Given the description of an element on the screen output the (x, y) to click on. 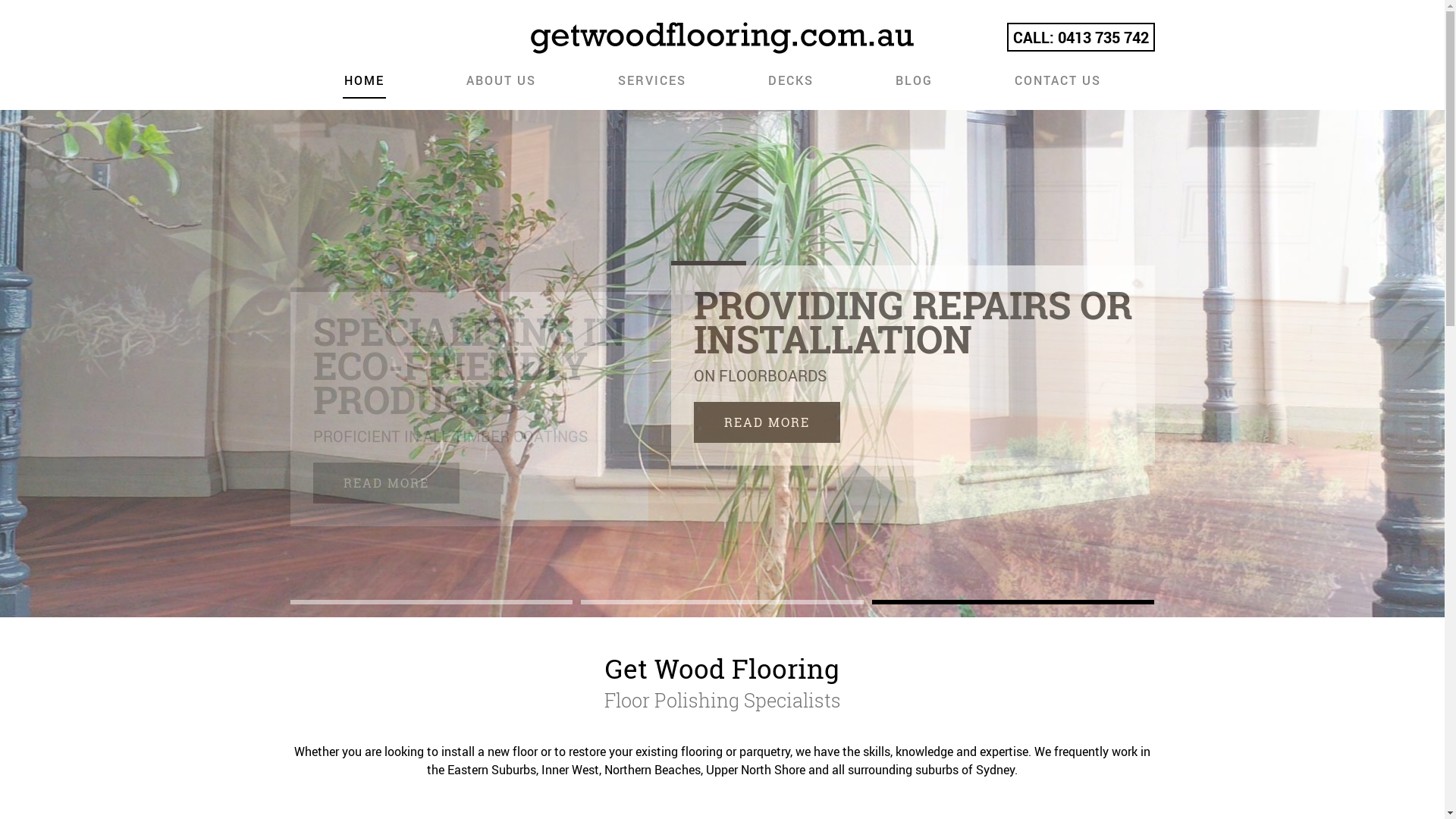
CALL: 0413 735 742 Element type: text (1080, 37)
2 Element type: text (721, 601)
BLOG Element type: text (913, 86)
SERVICES Element type: text (651, 86)
DECKS Element type: text (789, 86)
READ MORE Element type: text (385, 482)
1 Element type: text (430, 601)
CONTACT US Element type: text (1057, 86)
ABOUT US Element type: text (500, 86)
HOME Element type: text (363, 86)
3 Element type: text (1013, 601)
